Given the description of an element on the screen output the (x, y) to click on. 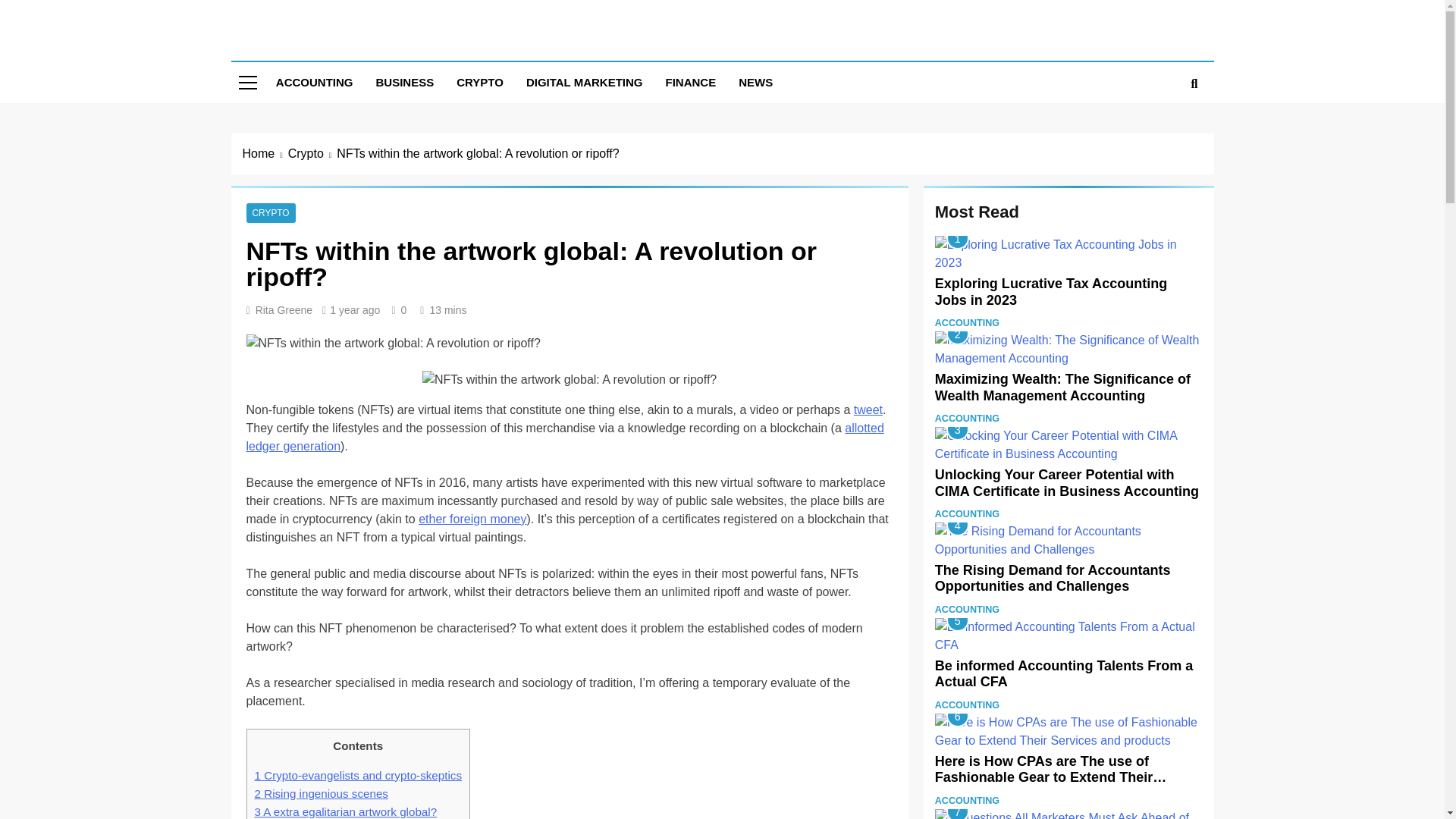
Cineweb News (341, 46)
FINANCE (690, 82)
BUSINESS (405, 82)
NFTs within the artwork global: A revolution or ripoff? (569, 380)
DIGITAL MARKETING (584, 82)
Crypto (312, 153)
NFTs within the artwork global: A revolution or ripoff? (393, 343)
NEWS (755, 82)
ACCOUNTING (314, 82)
CRYPTO (480, 82)
